Given the description of an element on the screen output the (x, y) to click on. 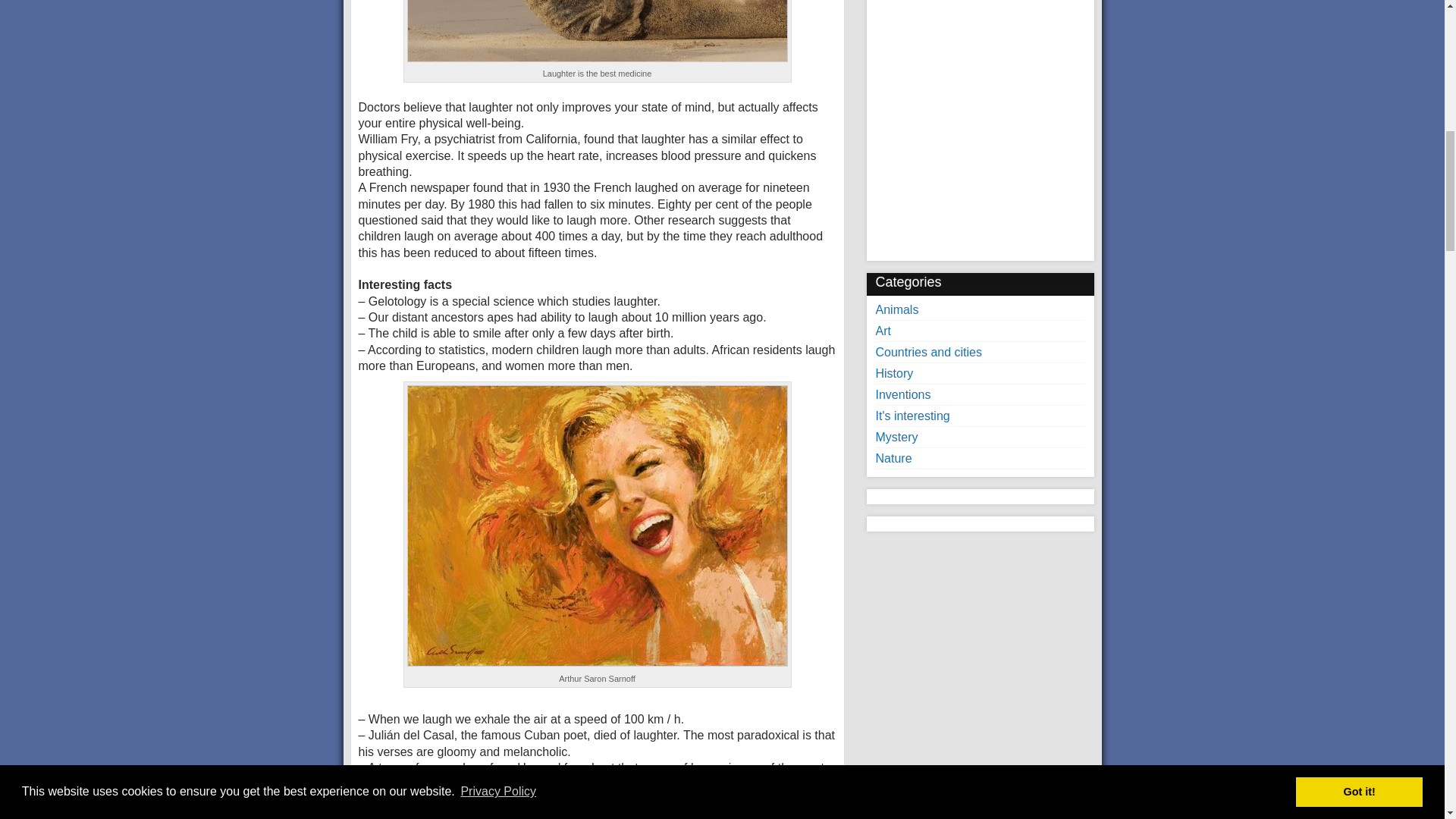
Animals (896, 309)
Art (882, 330)
